Given the description of an element on the screen output the (x, y) to click on. 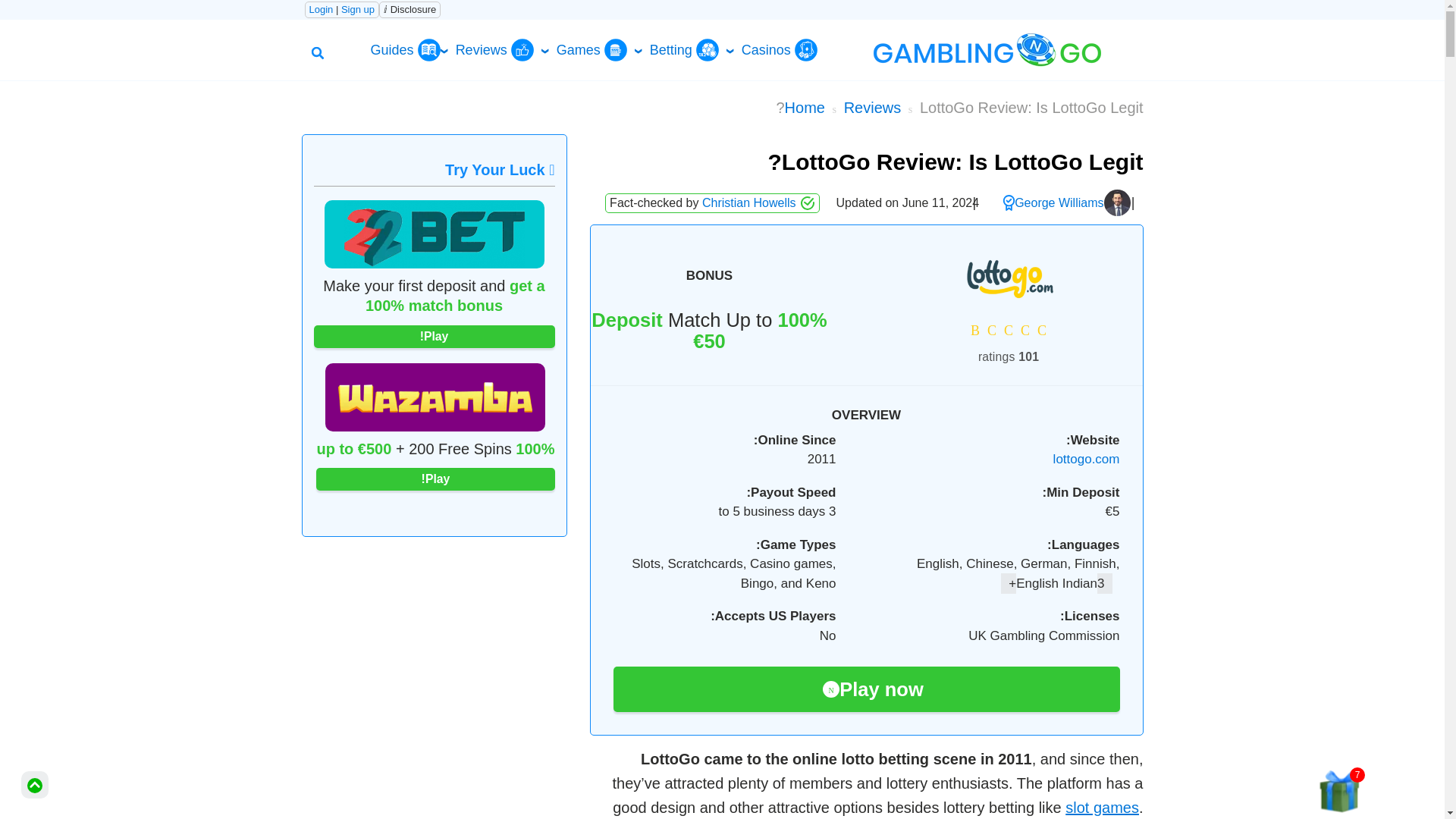
certificate-check (1008, 202)
Sign up (357, 9)
Login (320, 9)
LottoGo Review: Is LottoGo Legit? (959, 106)
 Casinos (778, 49)
Home (804, 106)
Reviews (872, 106)
